Given the description of an element on the screen output the (x, y) to click on. 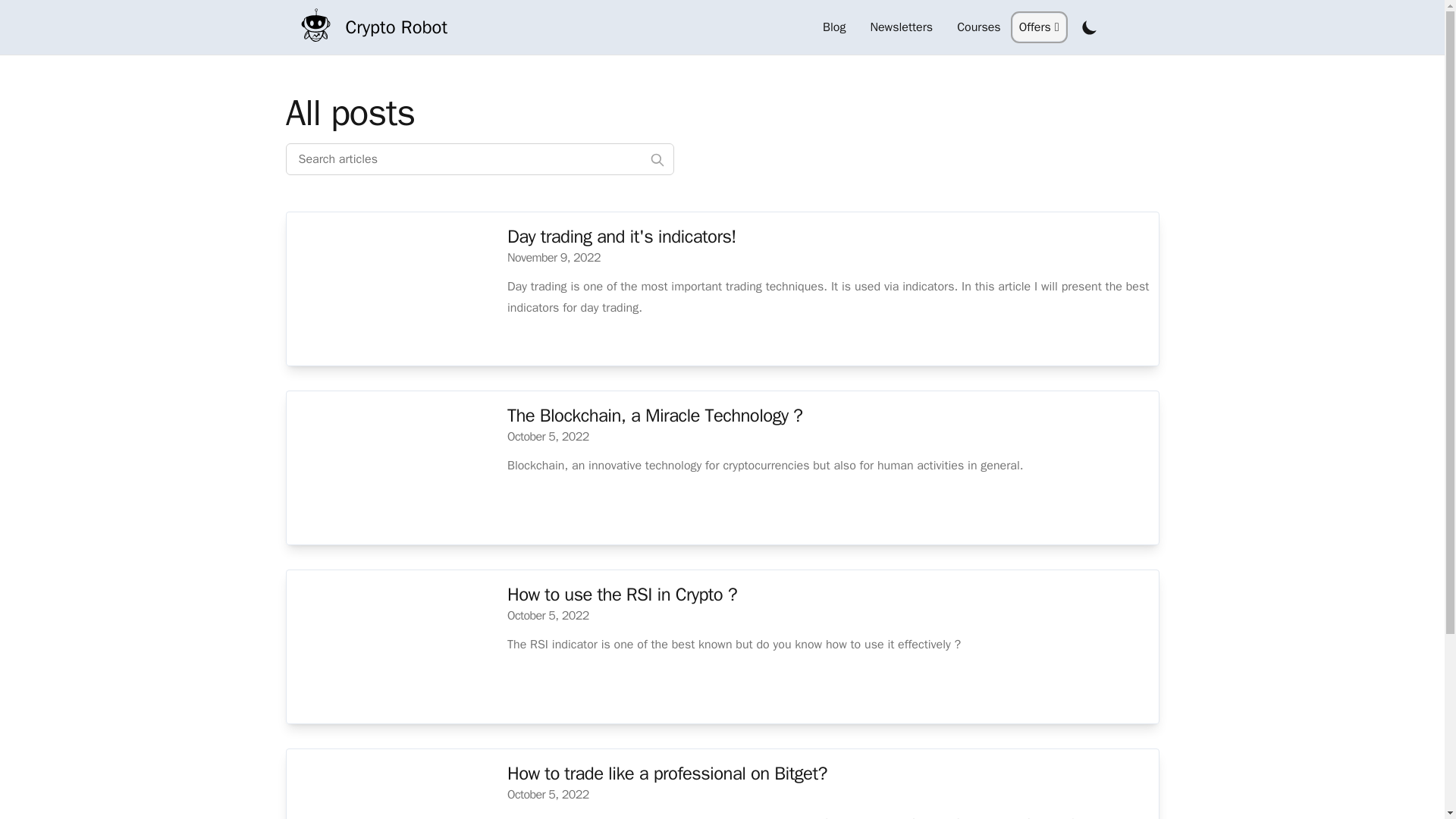
Courses (978, 26)
Day trading and it's indicators! (625, 236)
Newsletters (900, 26)
Blog (833, 26)
Crypto Robot (365, 26)
How to trade like a professional on Bitget? (670, 773)
How to use the RSI in Crypto ? (625, 594)
The Blockchain, a Miracle Technology ? (658, 415)
